Given the description of an element on the screen output the (x, y) to click on. 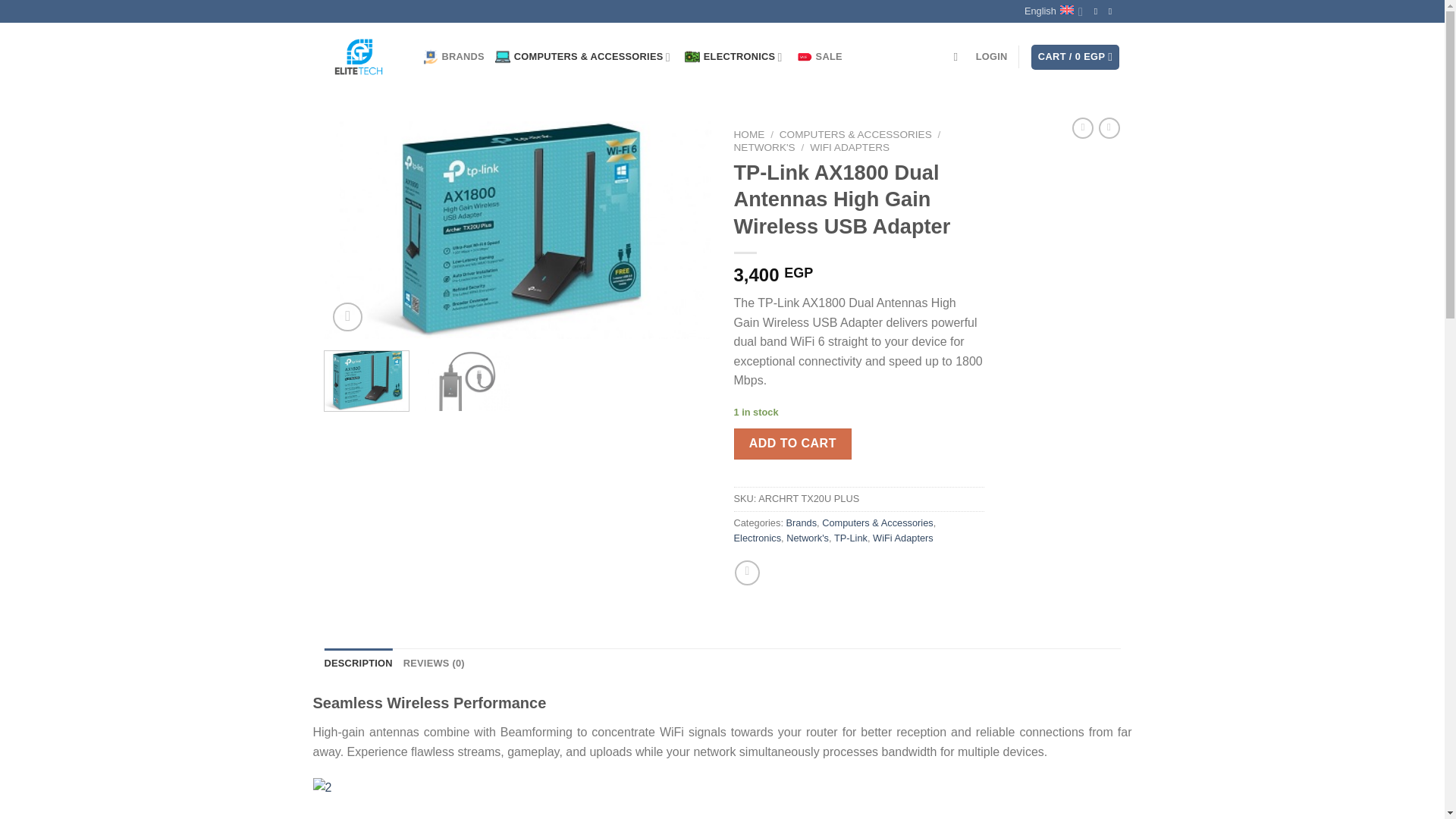
LOGIN (991, 56)
SALE (819, 56)
BRANDS (453, 56)
ELECTRONICS (735, 56)
Zoom (347, 317)
elitetecheg (362, 56)
English (1054, 11)
Share on Facebook (747, 572)
Cart (1074, 57)
